Given the description of an element on the screen output the (x, y) to click on. 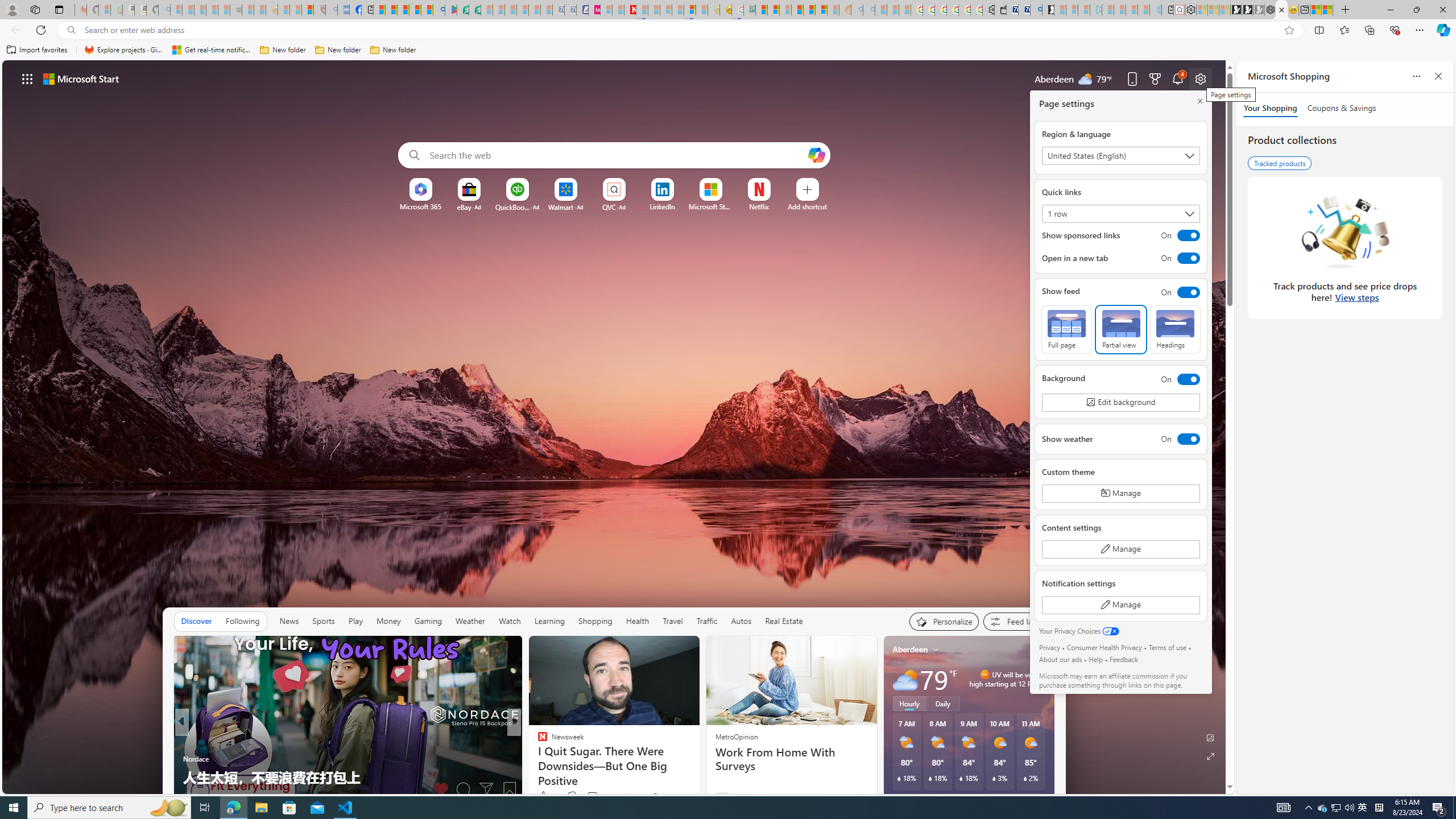
Sports (323, 621)
Learning (549, 621)
View comments 116 Comment (599, 795)
See full forecast (1013, 799)
